Given the description of an element on the screen output the (x, y) to click on. 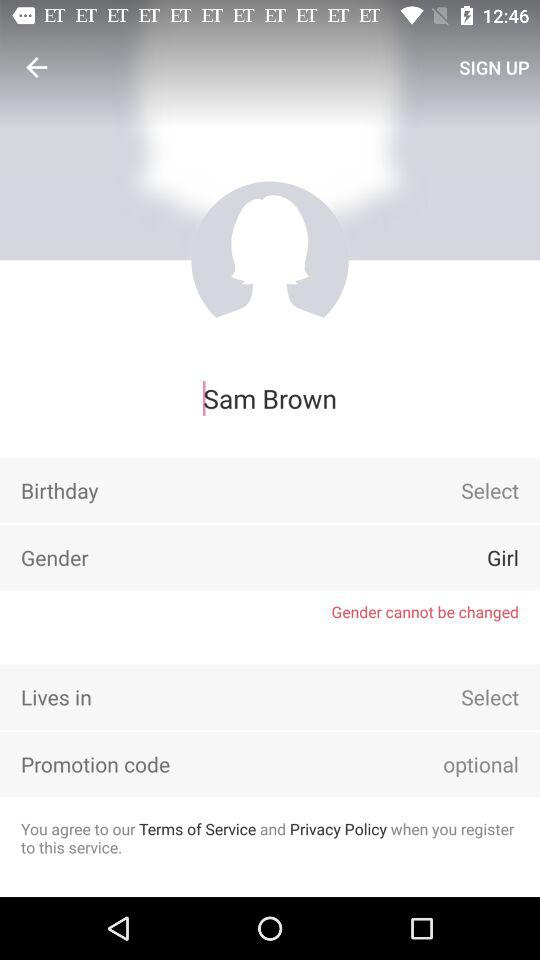
select the icon next to promotion code item (453, 764)
